Given the description of an element on the screen output the (x, y) to click on. 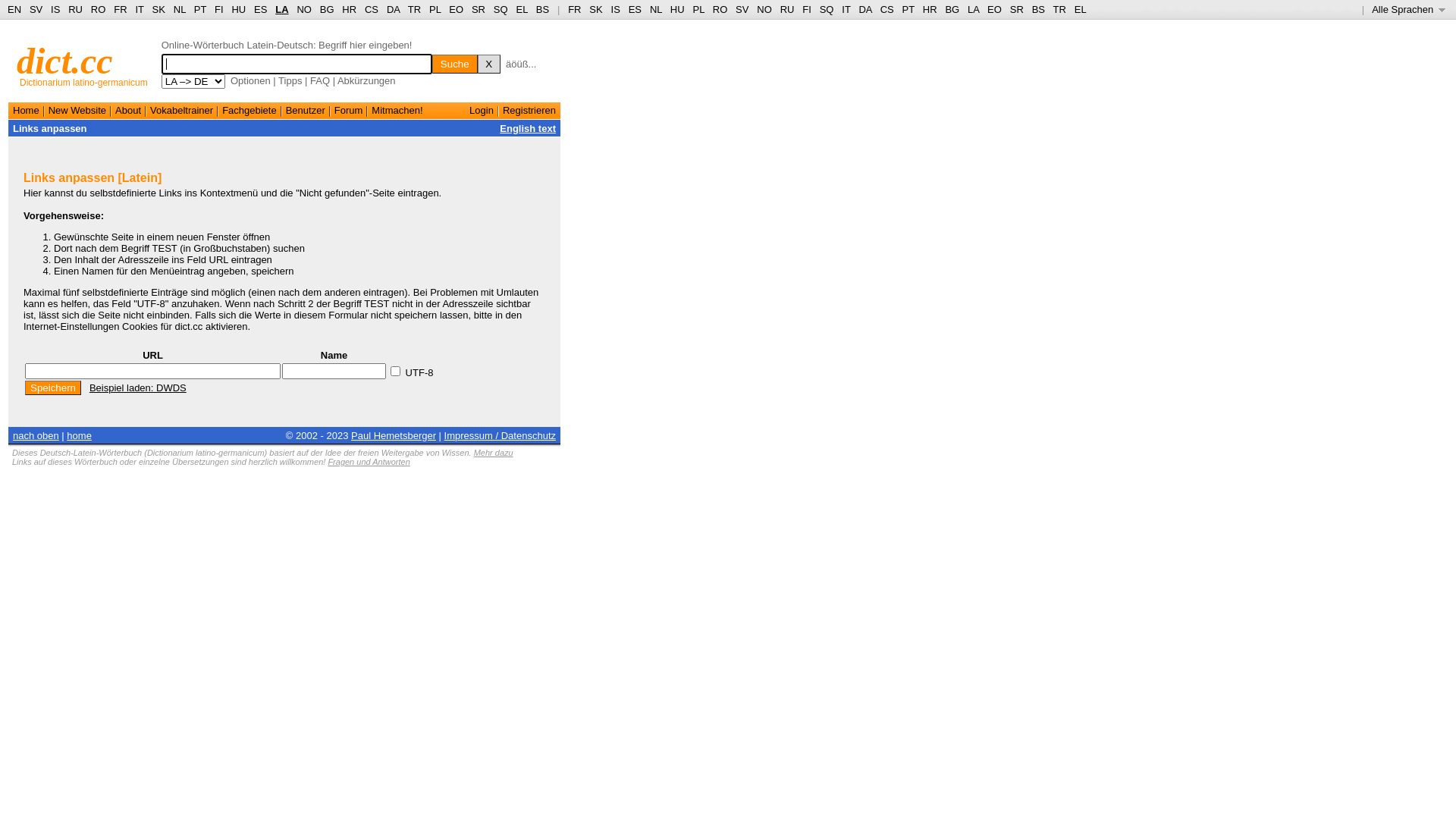
Registrieren Element type: text (528, 110)
dict.cc Element type: text (64, 60)
EL Element type: text (1080, 9)
DA Element type: text (864, 9)
TR Element type: text (413, 9)
RO Element type: text (720, 9)
Paul Hemetsberger Element type: text (393, 434)
Speichern Element type: text (53, 387)
HR Element type: text (349, 9)
HU Element type: text (238, 9)
EL Element type: text (521, 9)
Fragen und Antworten Element type: text (368, 461)
Beispiel laden: DWDS Element type: text (137, 387)
X Element type: text (488, 63)
Login Element type: text (481, 110)
Home Element type: text (25, 110)
SQ Element type: text (826, 9)
PT Element type: text (908, 9)
SR Element type: text (478, 9)
EO Element type: text (994, 9)
IS Element type: text (615, 9)
SK Element type: text (158, 9)
BG Element type: text (951, 9)
FI Element type: text (218, 9)
HR Element type: text (929, 9)
Vokabeltrainer Element type: text (181, 110)
Tipps Element type: text (289, 80)
IS Element type: text (54, 9)
FI Element type: text (806, 9)
HU Element type: text (677, 9)
EN Element type: text (14, 9)
PL Element type: text (697, 9)
SQ Element type: text (500, 9)
FR Element type: text (119, 9)
nach oben Element type: text (35, 434)
CS Element type: text (371, 9)
NL Element type: text (179, 9)
IT Element type: text (138, 9)
Benutzer Element type: text (305, 110)
Mehr dazu Element type: text (493, 452)
IT Element type: text (845, 9)
home Element type: text (78, 434)
EO Element type: text (455, 9)
Impressum / Datenschutz Element type: text (499, 434)
SR Element type: text (1016, 9)
NO Element type: text (303, 9)
Forum Element type: text (348, 110)
RU Element type: text (75, 9)
SV Element type: text (741, 9)
LA Element type: text (281, 9)
LA Element type: text (973, 9)
FR Element type: text (573, 9)
TR Element type: text (1059, 9)
FAQ Element type: text (319, 80)
NO Element type: text (763, 9)
NL Element type: text (655, 9)
CS Element type: text (887, 9)
Mitmachen! Element type: text (396, 110)
BG Element type: text (327, 9)
New Website Element type: text (77, 110)
RO Element type: text (98, 9)
Suche Element type: text (454, 63)
BS Element type: text (542, 9)
DA Element type: text (392, 9)
RU Element type: text (787, 9)
PT Element type: text (200, 9)
SK Element type: text (595, 9)
Alle Sprachen  Element type: text (1408, 9)
Optionen Element type: text (250, 80)
PL Element type: text (434, 9)
Fachgebiete Element type: text (249, 110)
ES Element type: text (260, 9)
About Element type: text (128, 110)
ES Element type: text (634, 9)
SV Element type: text (35, 9)
BS Element type: text (1038, 9)
English text Element type: text (527, 128)
